Given the description of an element on the screen output the (x, y) to click on. 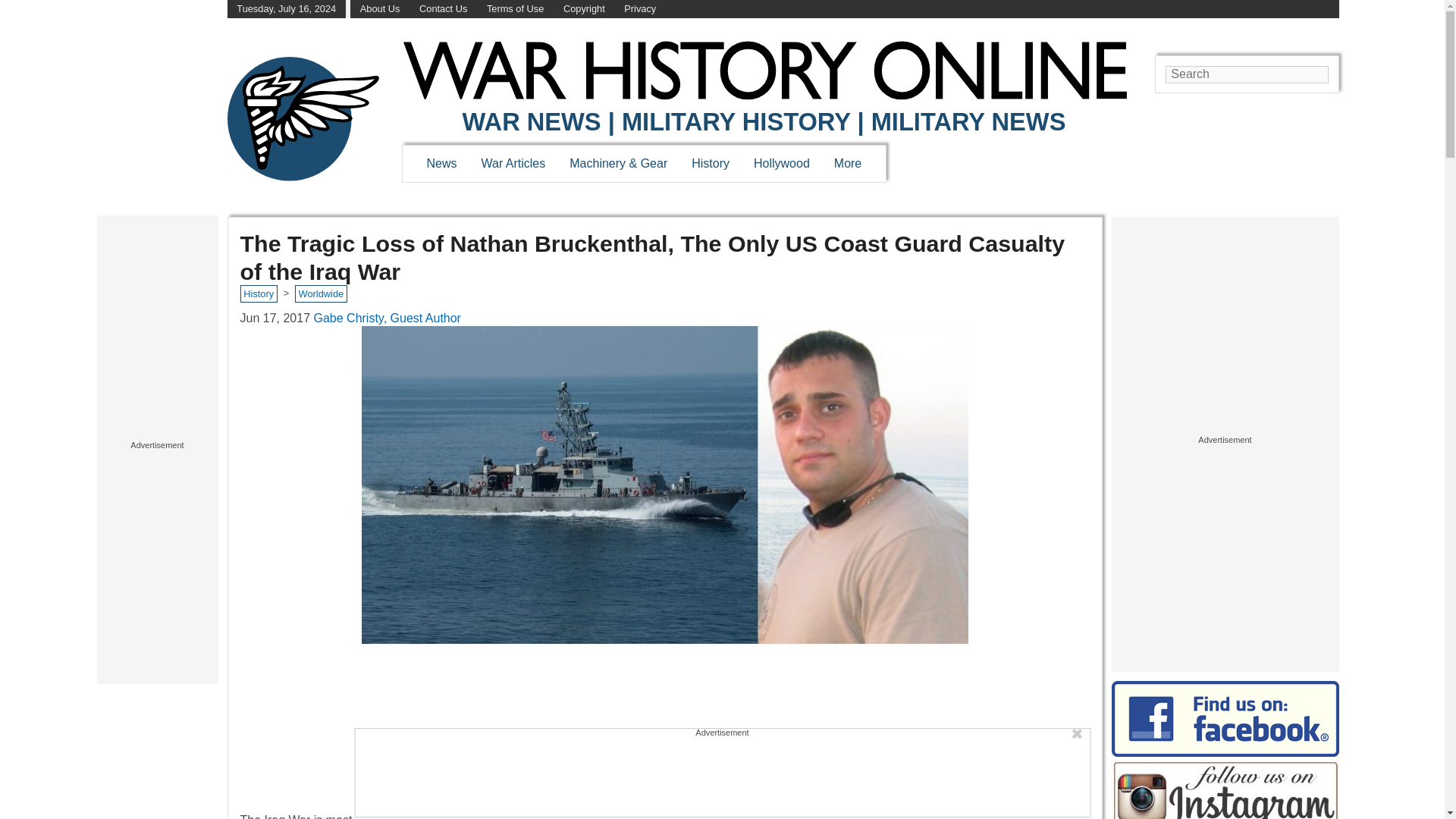
Hollywood (781, 163)
Contact Us (443, 8)
Copyright (584, 8)
History (710, 163)
More (847, 163)
News (441, 163)
Terms of Use (514, 8)
War Articles (513, 163)
Privacy (640, 8)
About Us (379, 8)
